Given the description of an element on the screen output the (x, y) to click on. 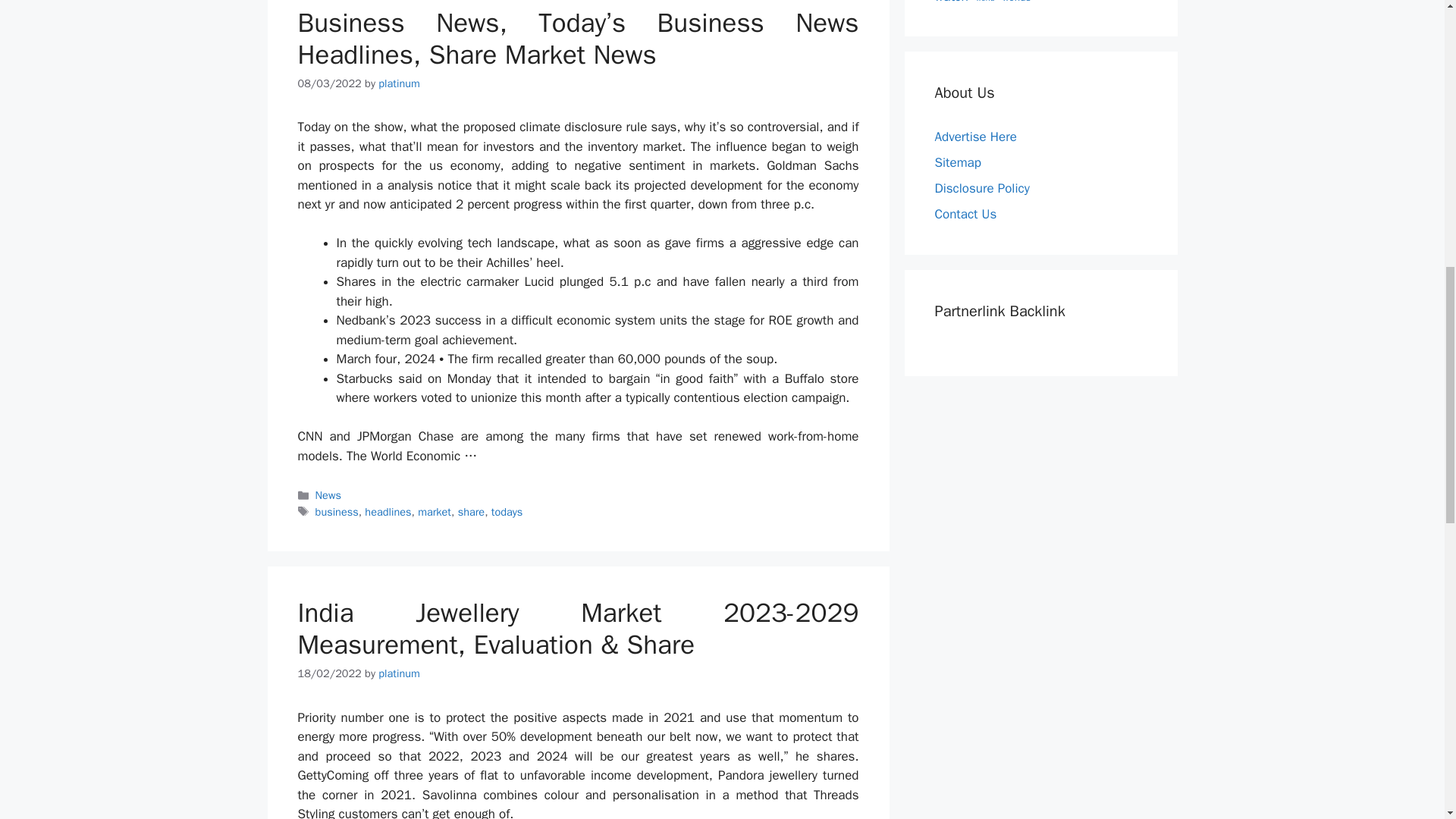
share (471, 511)
platinum (398, 673)
View all posts by platinum (398, 673)
headlines (387, 511)
View all posts by platinum (398, 83)
business (336, 511)
todays (507, 511)
News (327, 495)
platinum (398, 83)
market (434, 511)
